Given the description of an element on the screen output the (x, y) to click on. 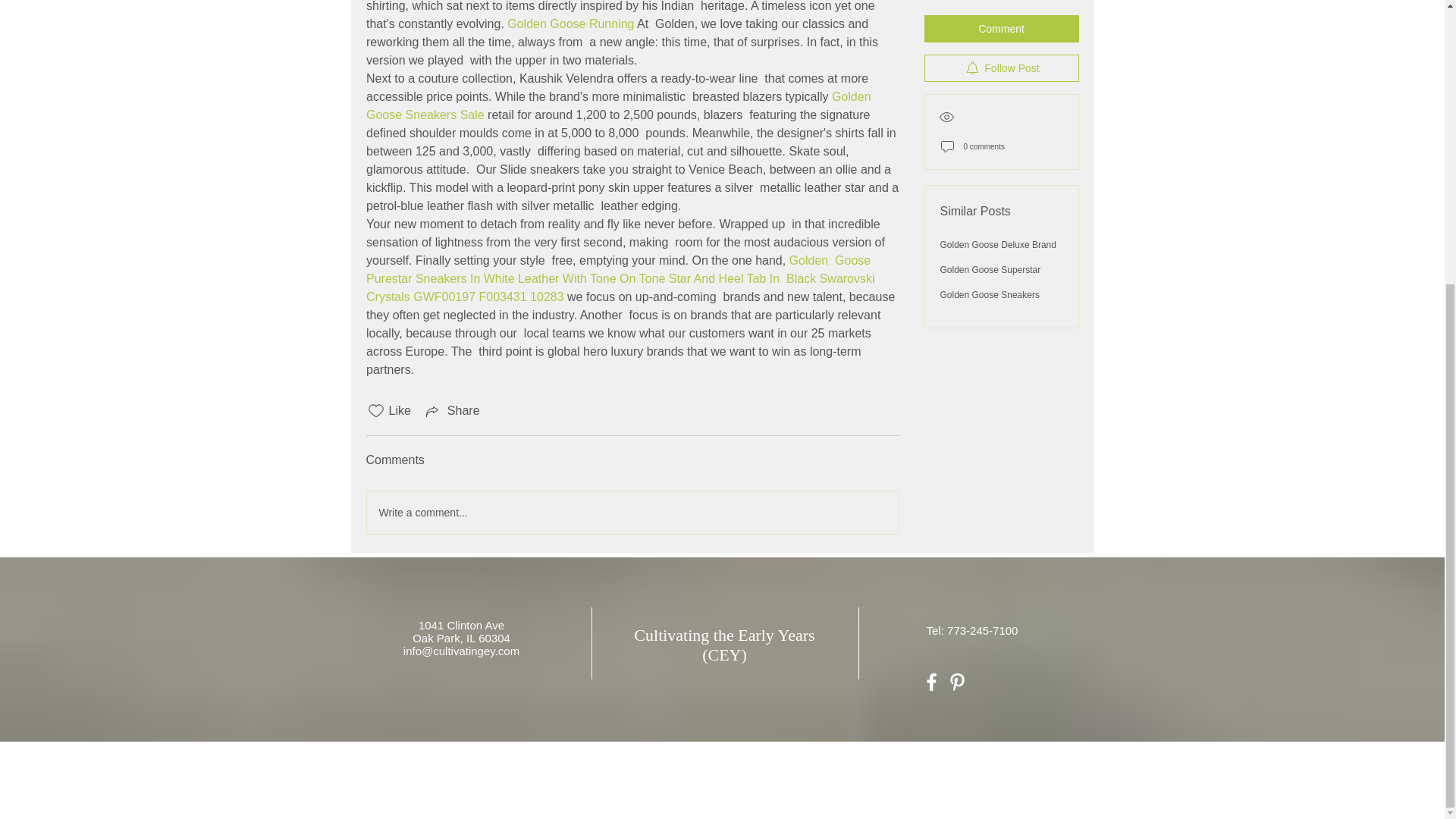
Share (451, 411)
Golden  Goose Sneakers Sale (620, 105)
Write a comment... (632, 512)
Golden Goose Deluxe Brand (998, 20)
Cultivating the Early Years (723, 634)
Golden Goose Running (569, 23)
Golden Goose Sneakers (989, 70)
Golden Goose Superstar (990, 45)
